Given the description of an element on the screen output the (x, y) to click on. 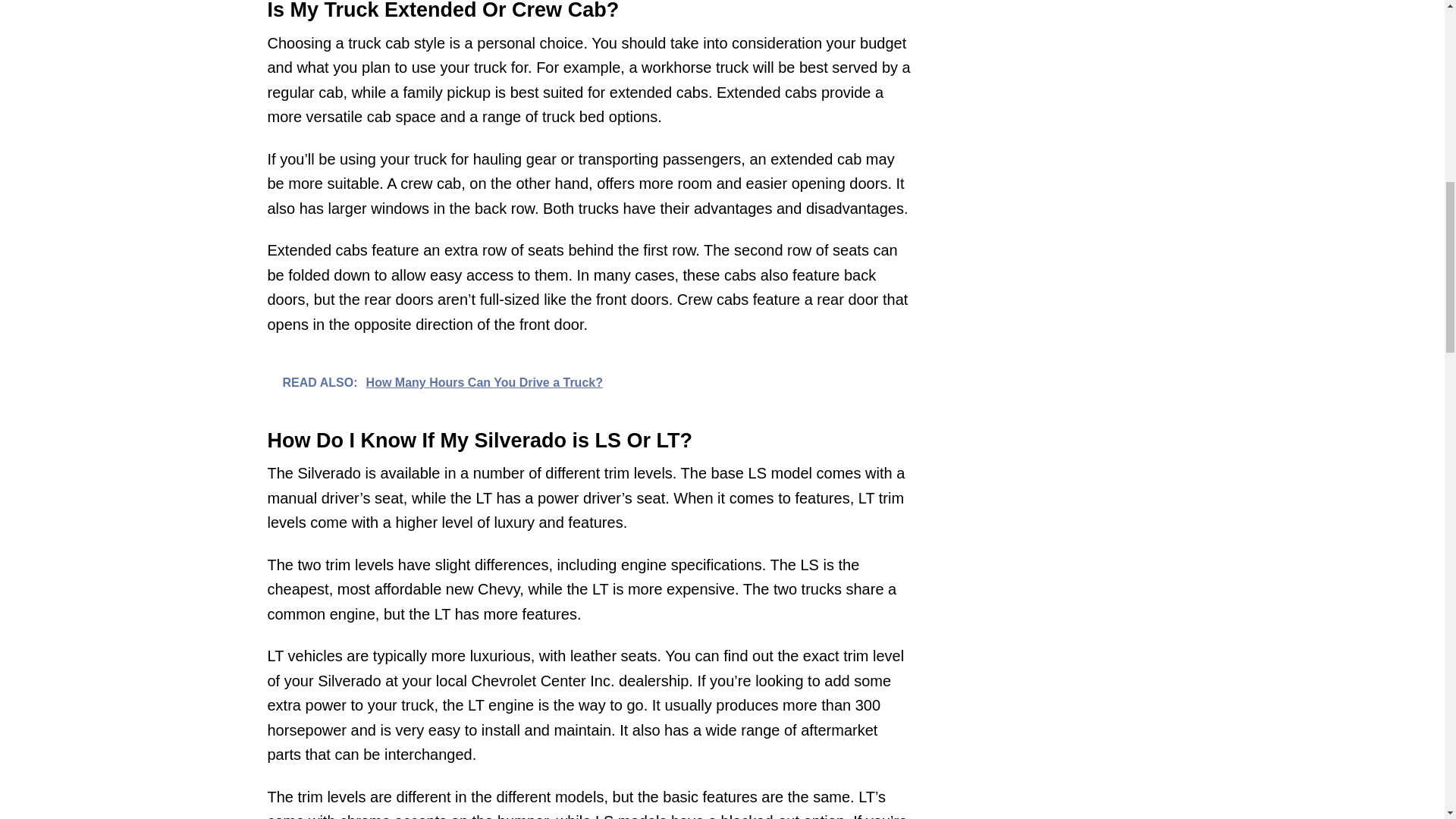
READ ALSO:  How Many Hours Can You Drive a Truck? (588, 381)
